Given the description of an element on the screen output the (x, y) to click on. 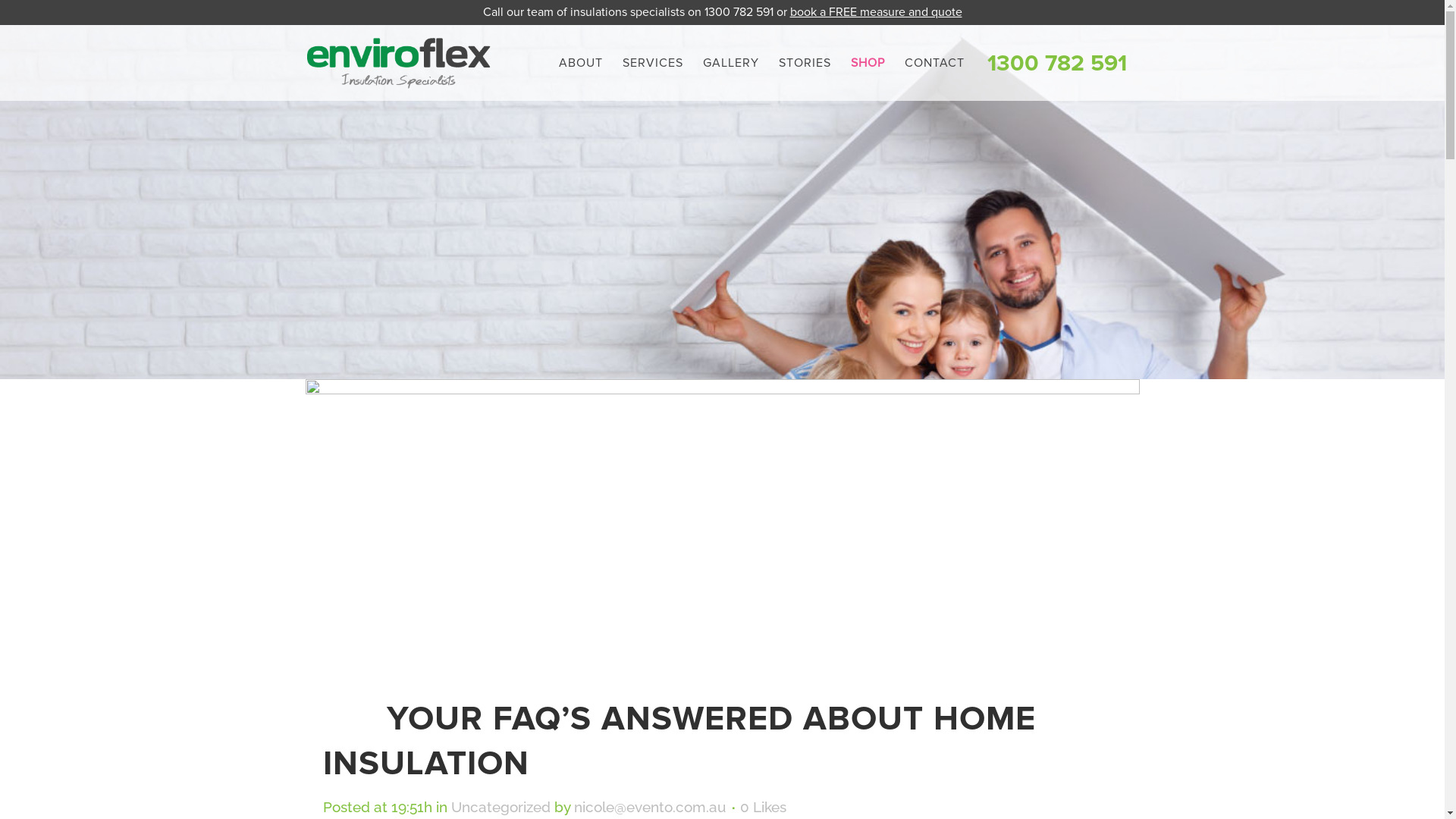
CONTACT Element type: text (934, 62)
SERVICES Element type: text (652, 62)
Uncategorized Element type: text (499, 806)
STORIES Element type: text (804, 62)
ABOUT Element type: text (580, 62)
0 Likes Element type: text (763, 806)
nicole@evento.com.au Element type: text (648, 806)
1300 782 591 Element type: text (1056, 62)
1300 782 591 Element type: text (737, 11)
SHOP Element type: text (867, 62)
book a FREE measure and quote Element type: text (876, 11)
GALLERY Element type: text (730, 62)
